Given the description of an element on the screen output the (x, y) to click on. 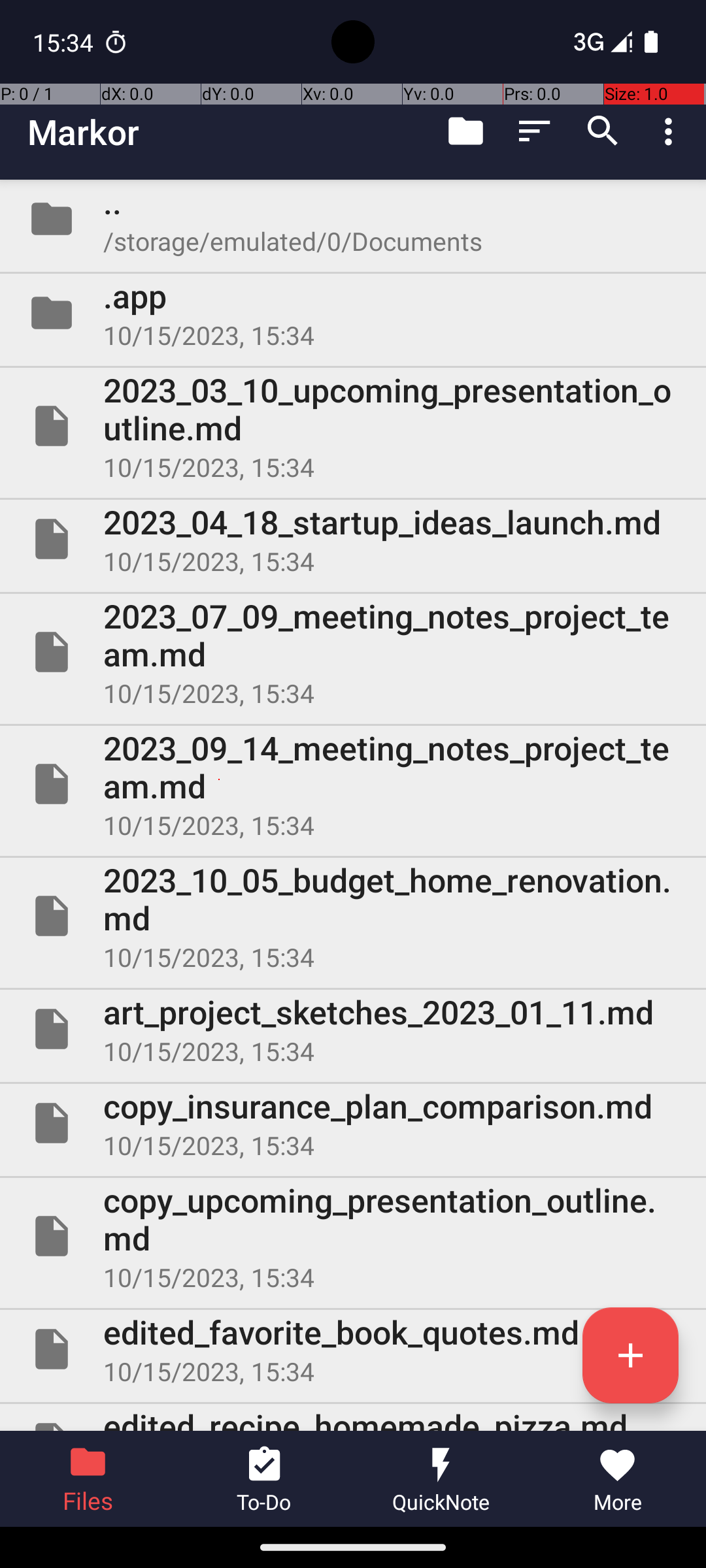
Folder .app  Element type: android.widget.LinearLayout (353, 312)
File 2023_03_10_upcoming_presentation_outline.md  Element type: android.widget.LinearLayout (353, 425)
File 2023_04_18_startup_ideas_launch.md  Element type: android.widget.LinearLayout (353, 538)
File 2023_07_09_meeting_notes_project_team.md  Element type: android.widget.LinearLayout (353, 651)
File 2023_09_14_meeting_notes_project_team.md  Element type: android.widget.LinearLayout (353, 783)
File 2023_10_05_budget_home_renovation.md  Element type: android.widget.LinearLayout (353, 915)
File art_project_sketches_2023_01_11.md  Element type: android.widget.LinearLayout (353, 1028)
File copy_insurance_plan_comparison.md  Element type: android.widget.LinearLayout (353, 1122)
File copy_upcoming_presentation_outline.md  Element type: android.widget.LinearLayout (353, 1235)
File edited_favorite_book_quotes.md  Element type: android.widget.LinearLayout (353, 1348)
File edited_recipe_homemade_pizza.md  Element type: android.widget.LinearLayout (353, 1417)
